Given the description of an element on the screen output the (x, y) to click on. 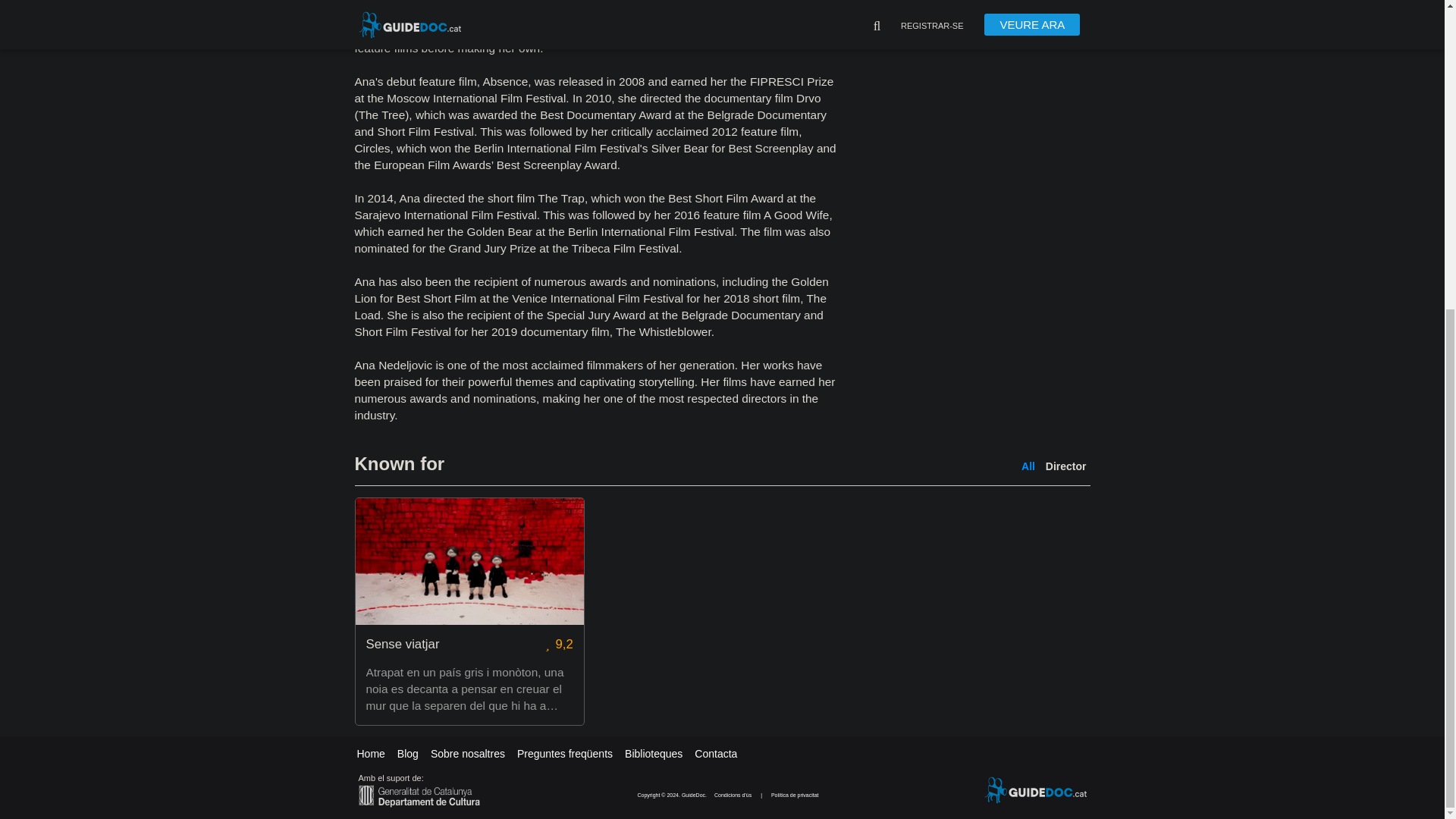
Home (370, 754)
Blog (408, 754)
Contacta (715, 754)
Biblioteques (653, 754)
Sobre nosaltres (467, 754)
Director (1065, 466)
All (1028, 466)
